Given the description of an element on the screen output the (x, y) to click on. 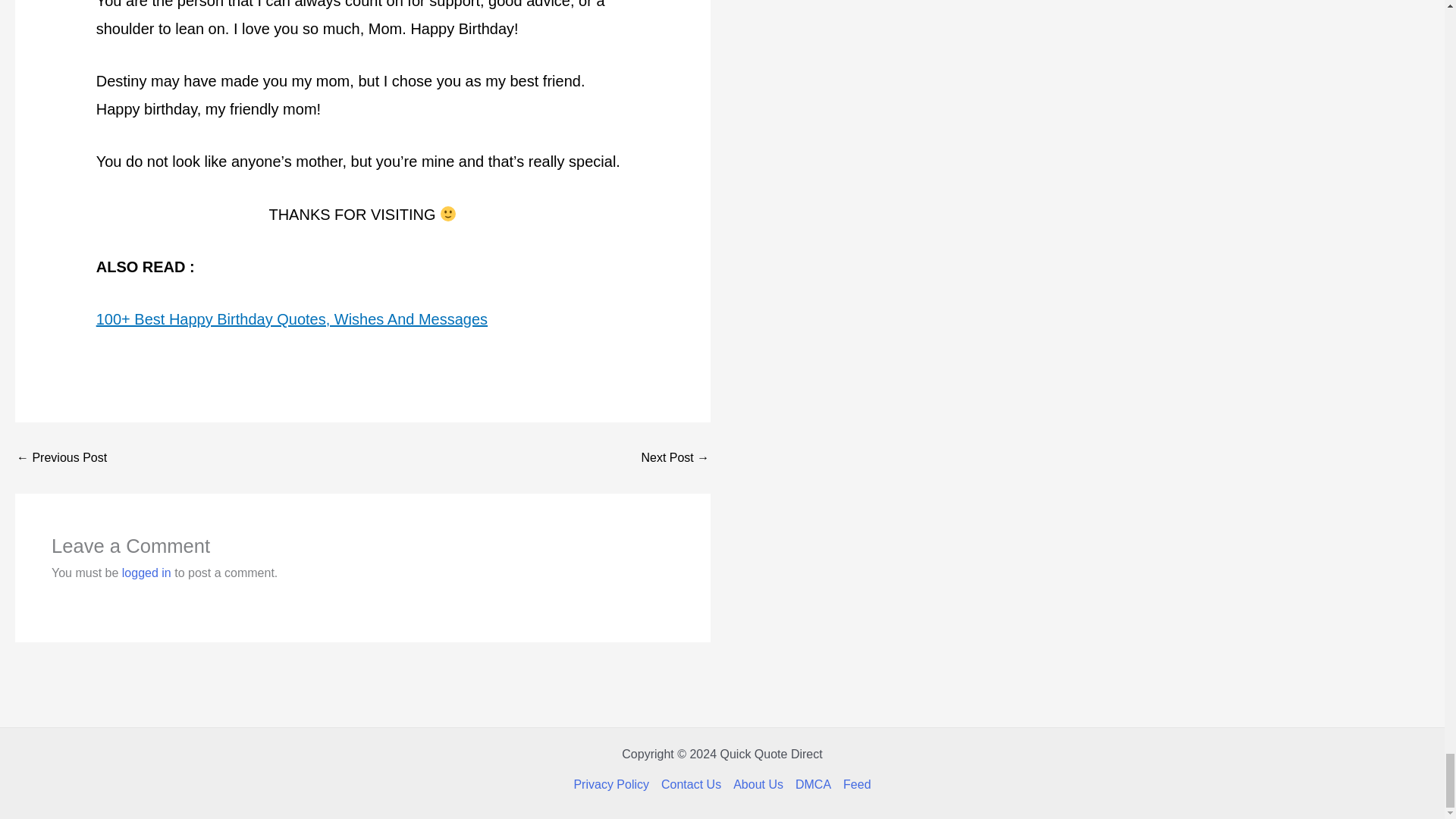
About Us (757, 784)
logged in (146, 572)
Privacy Policy (614, 784)
Contact Us (690, 784)
DMCA (813, 784)
Feed (853, 784)
